Given the description of an element on the screen output the (x, y) to click on. 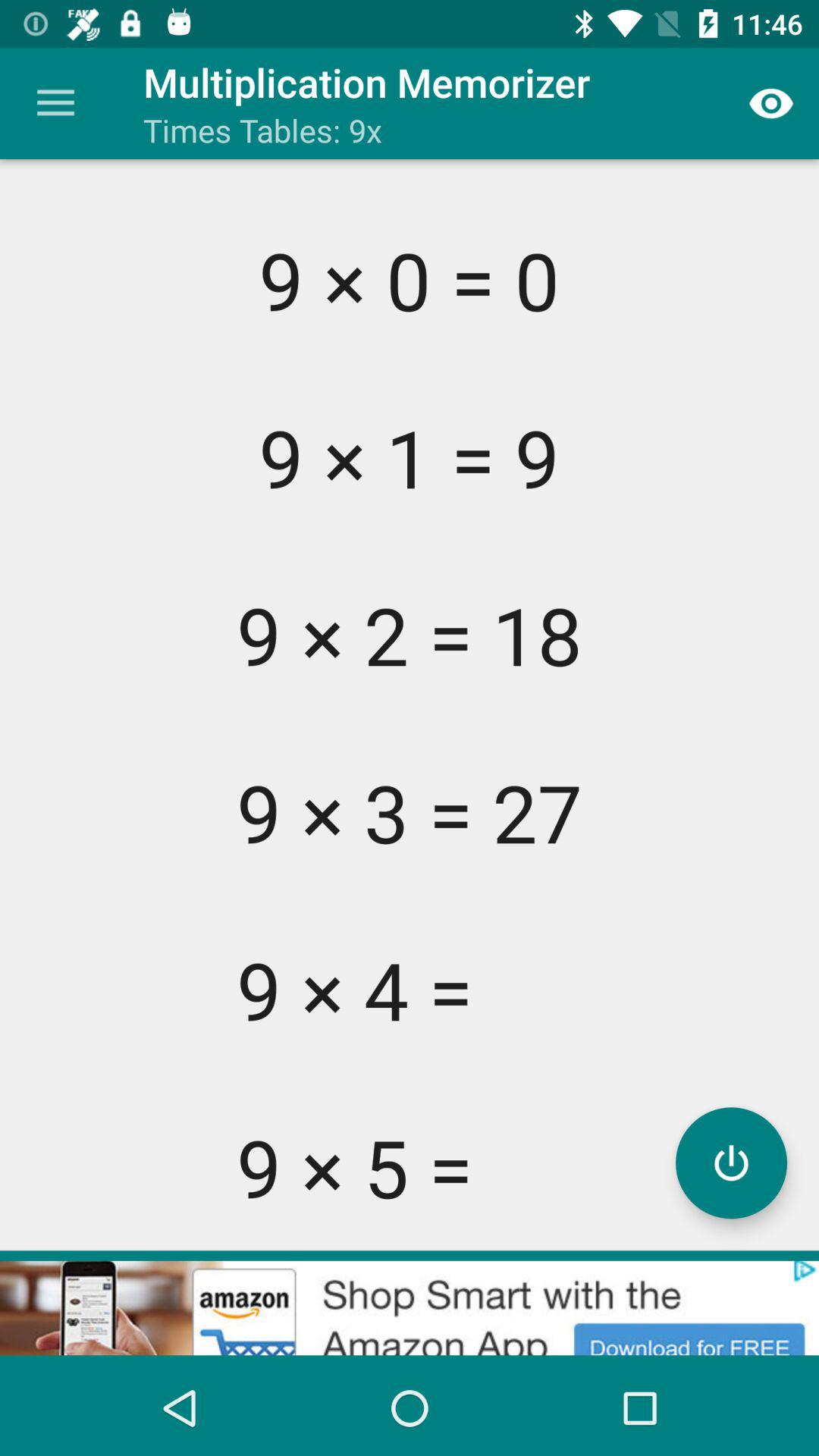
on button (731, 1162)
